Given the description of an element on the screen output the (x, y) to click on. 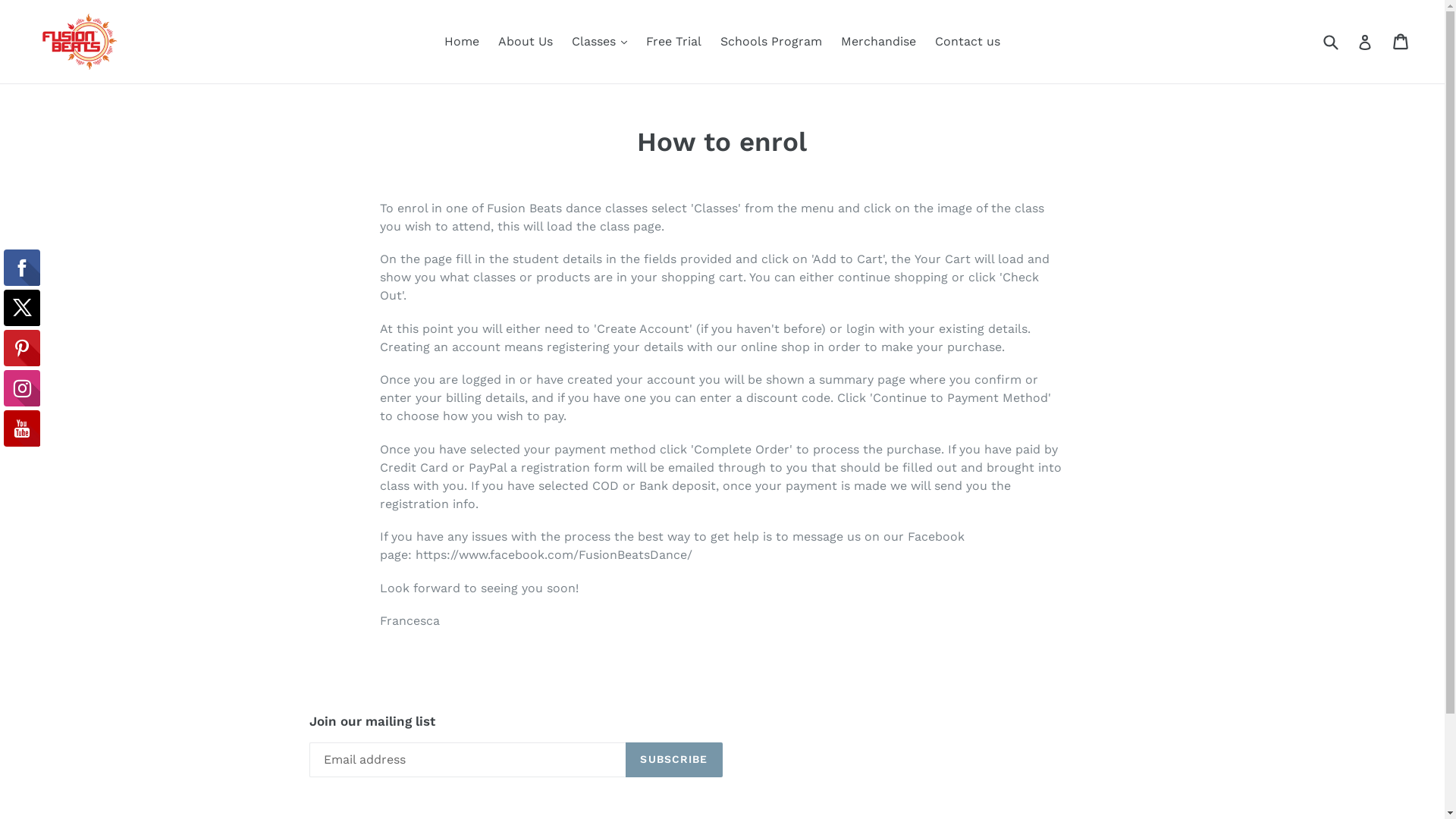
SUBSCRIBE Element type: text (673, 759)
Contact us Element type: text (967, 41)
Merchandise Element type: text (878, 41)
Log in Element type: text (1364, 41)
Home Element type: text (461, 41)
Submit Element type: text (1329, 40)
Free Trial Element type: text (673, 41)
Cart
Cart Element type: text (1401, 41)
Schools Program Element type: text (770, 41)
About Us Element type: text (525, 41)
